Given the description of an element on the screen output the (x, y) to click on. 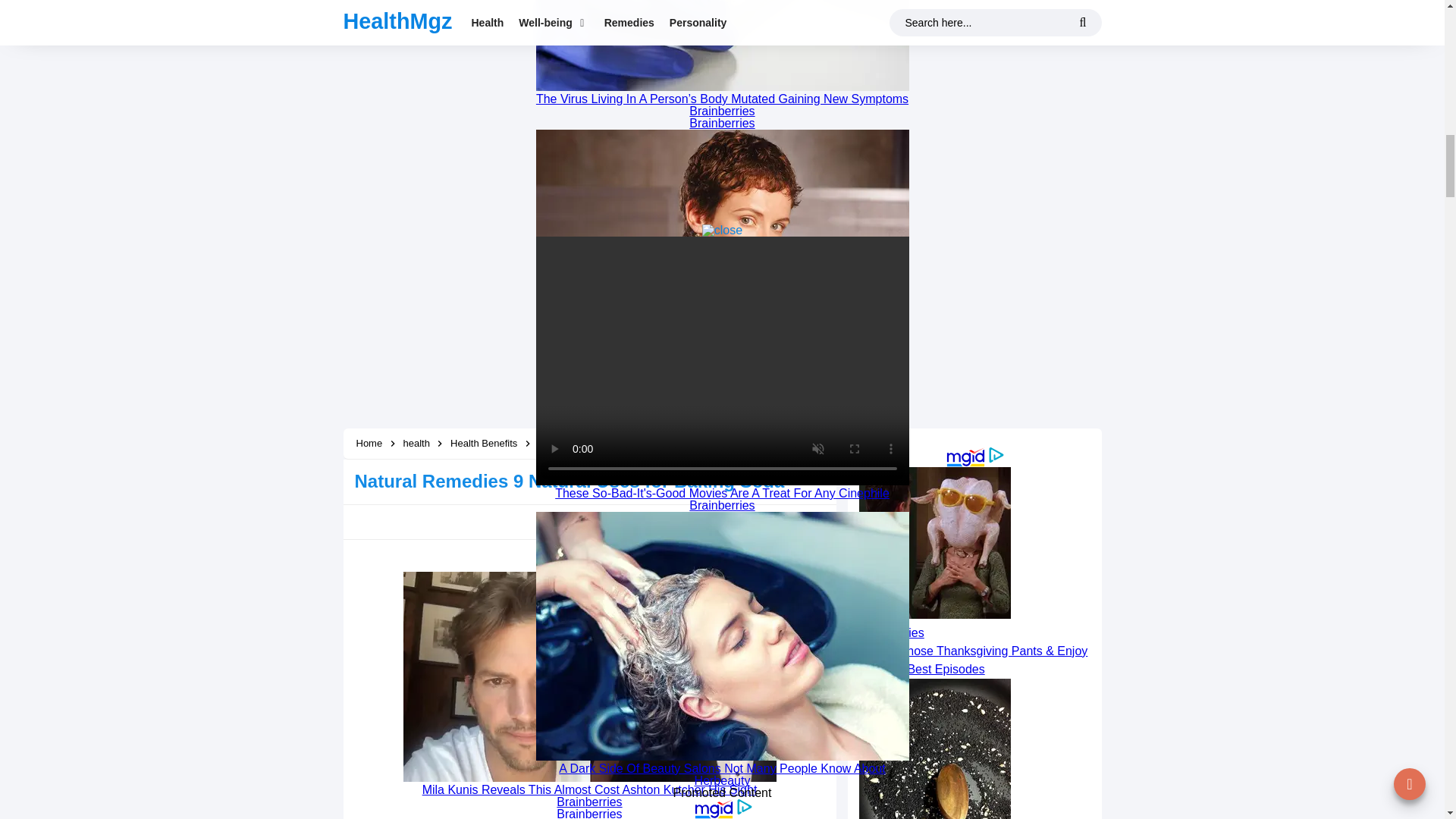
health (417, 442)
Health Benefits (484, 442)
Home (369, 442)
Home (369, 442)
health (417, 442)
Health Benefits (484, 442)
